Given the description of an element on the screen output the (x, y) to click on. 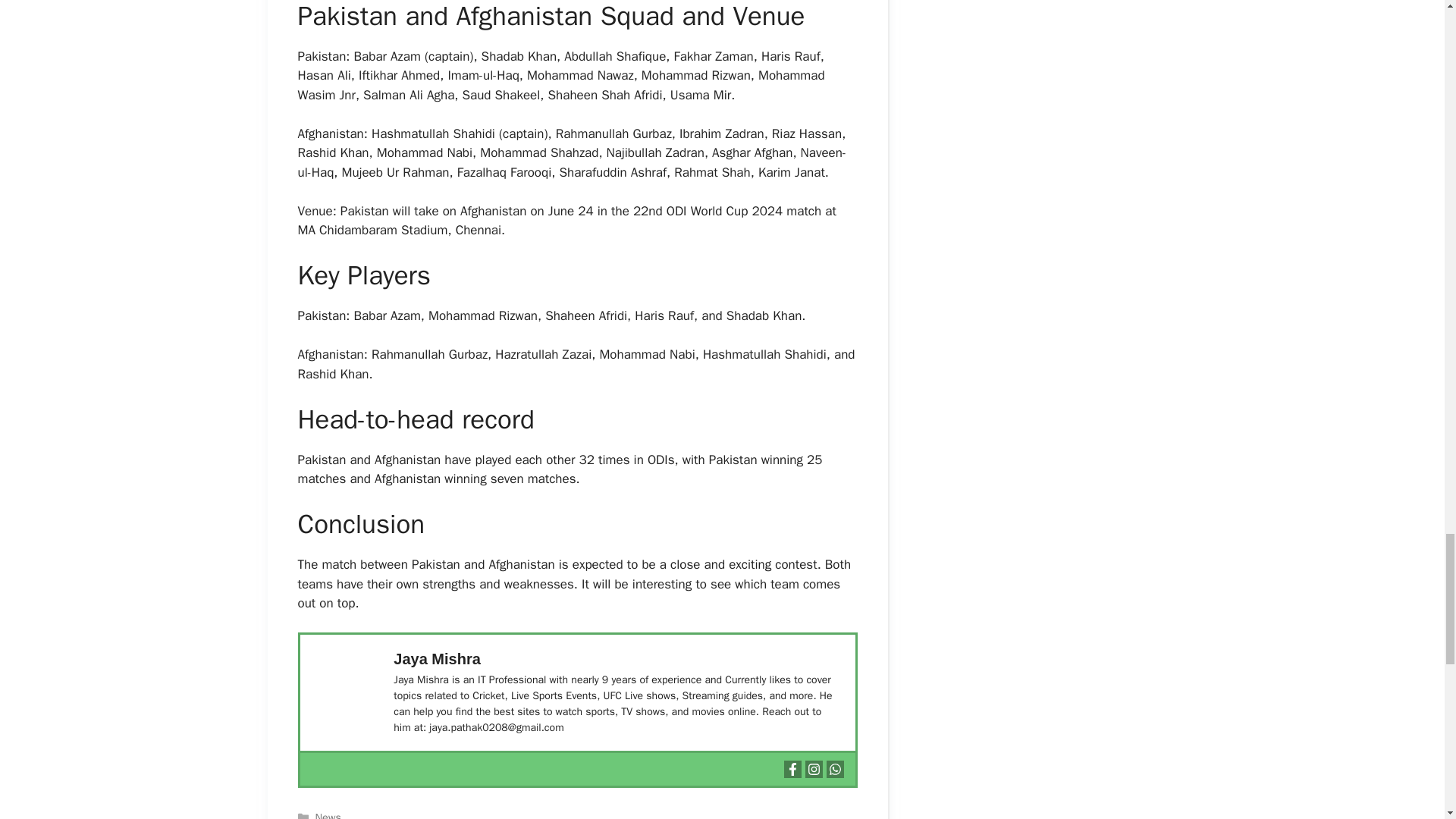
News (327, 814)
